Given the description of an element on the screen output the (x, y) to click on. 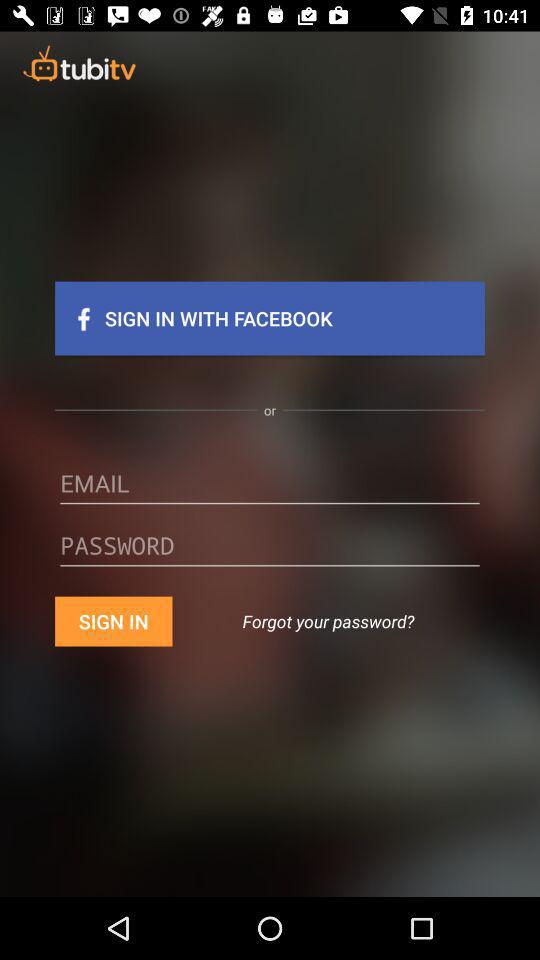
open item below or (269, 489)
